Given the description of an element on the screen output the (x, y) to click on. 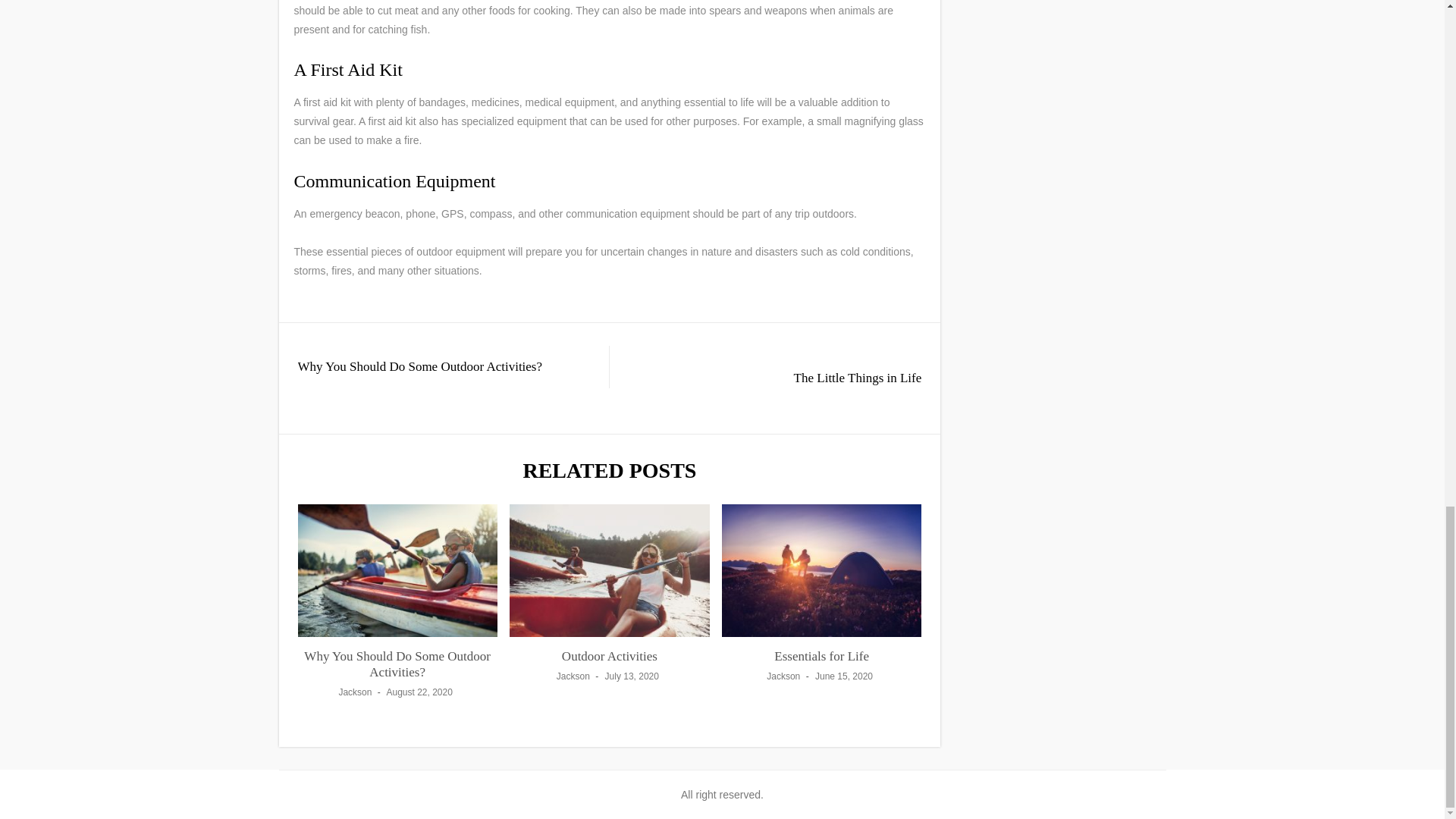
Posts by jackson (572, 675)
Why You Should Do Some Outdoor Activities? (441, 366)
Posts by jackson (354, 692)
Posts by jackson (783, 675)
Essentials for Life (821, 656)
Jackson (354, 692)
Essentials for Life (821, 656)
Outdoor Activities (610, 656)
Outdoor Activities (610, 656)
The Little Things in Life (776, 378)
